Given the description of an element on the screen output the (x, y) to click on. 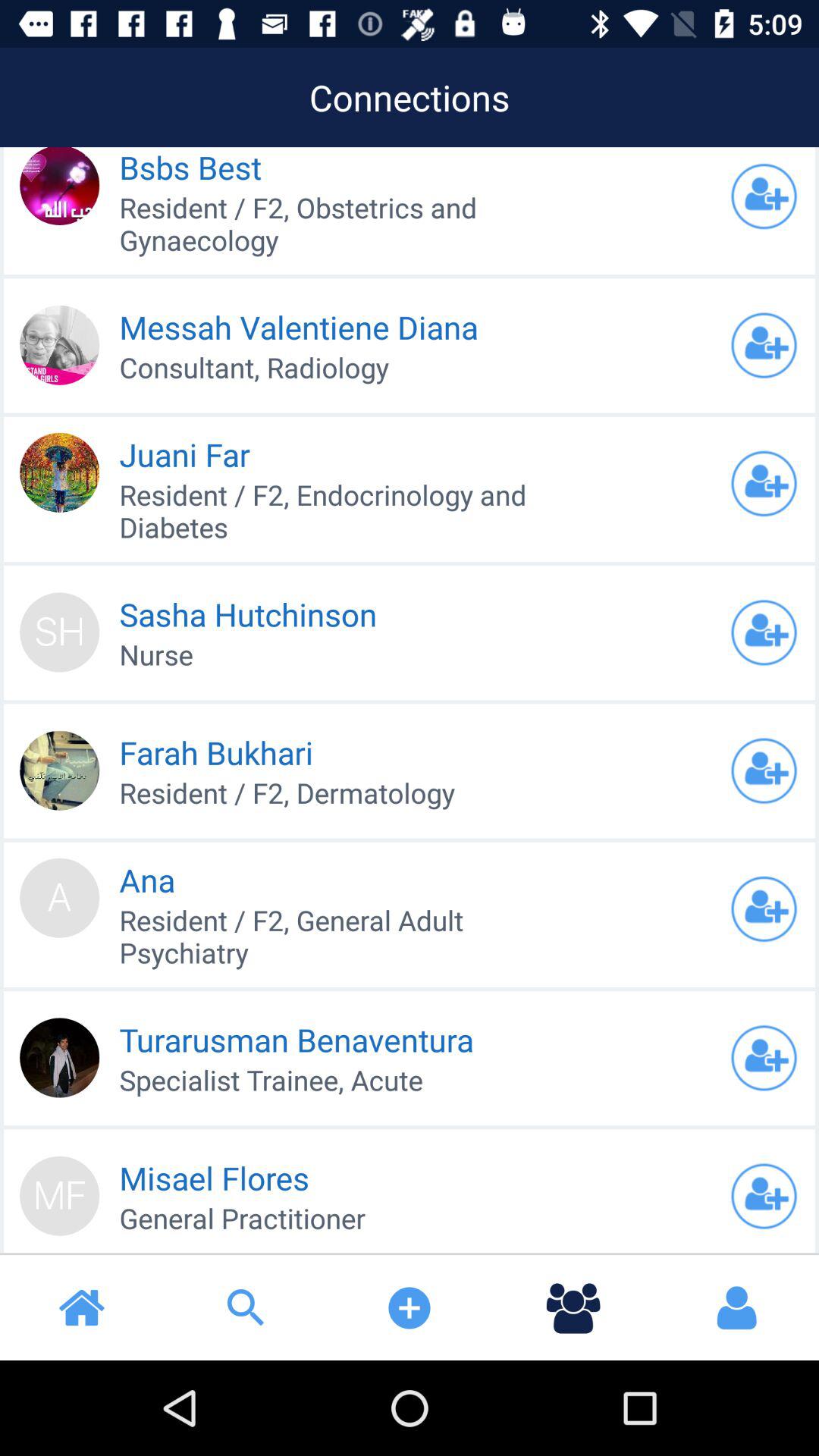
turn off the icon below general practitioner (573, 1307)
